Given the description of an element on the screen output the (x, y) to click on. 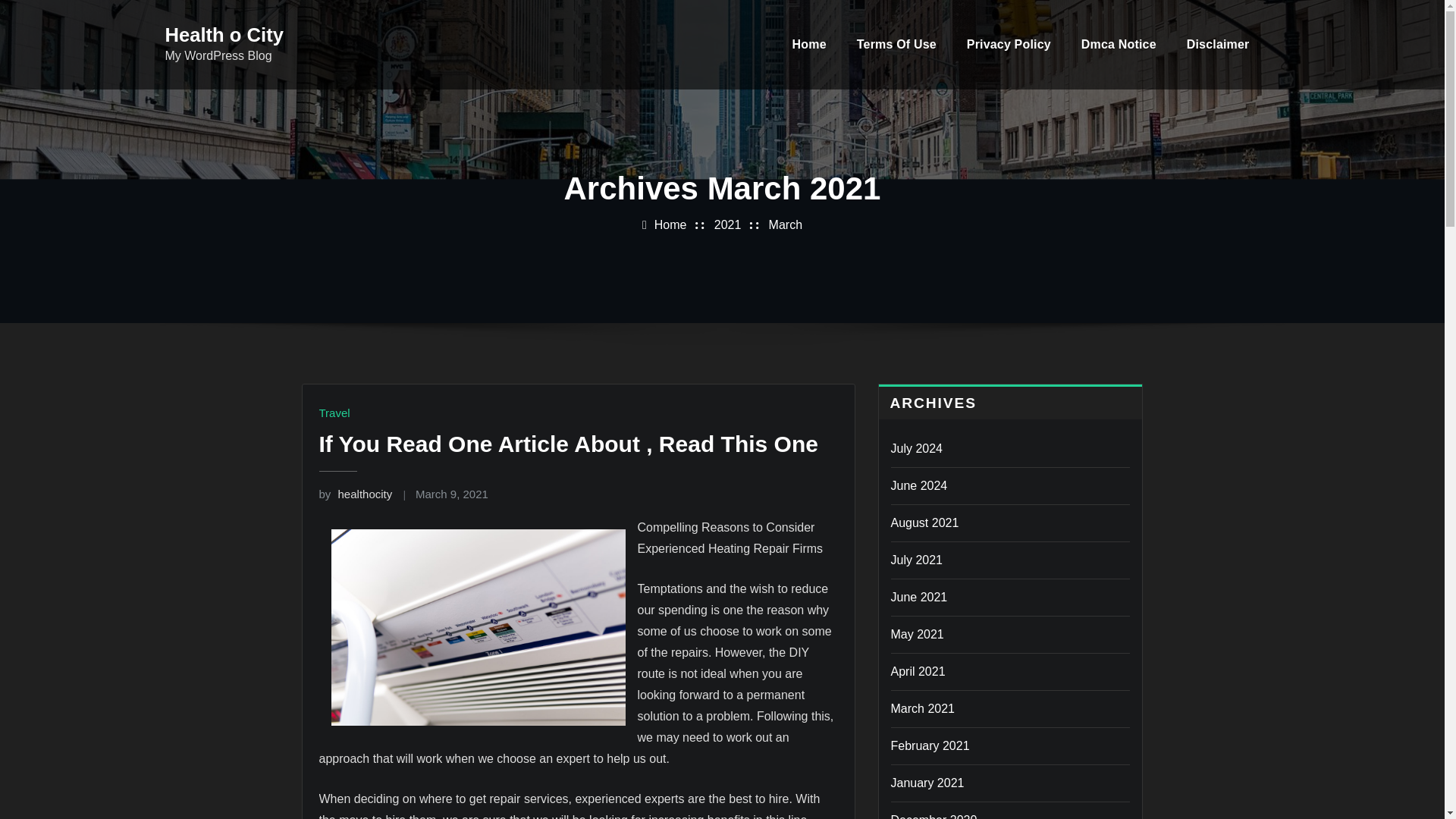
February 2021 (929, 745)
Terms Of Use (896, 44)
Disclaimer (1218, 44)
Health o City (224, 34)
April 2021 (916, 671)
2021 (727, 224)
July 2024 (915, 448)
If You Read One Article About , Read This One (567, 443)
August 2021 (923, 522)
June 2024 (918, 485)
